Given the description of an element on the screen output the (x, y) to click on. 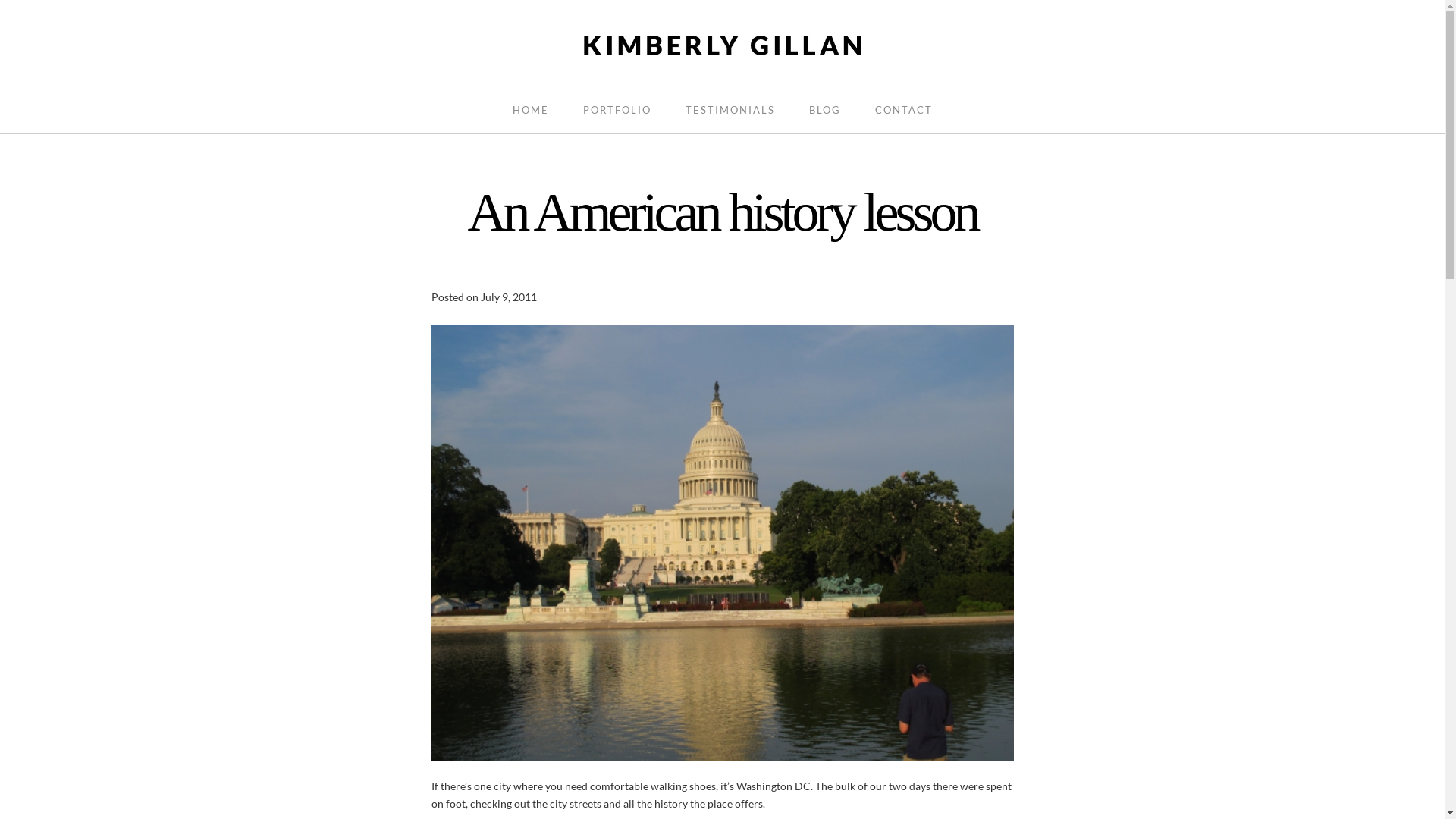
BLOG Element type: text (824, 109)
TESTIMONIALS Element type: text (730, 109)
CONTACT Element type: text (903, 109)
HOME Element type: text (530, 109)
Kimberly Gillan Element type: hover (721, 43)
PORTFOLIO Element type: text (616, 109)
